Given the description of an element on the screen output the (x, y) to click on. 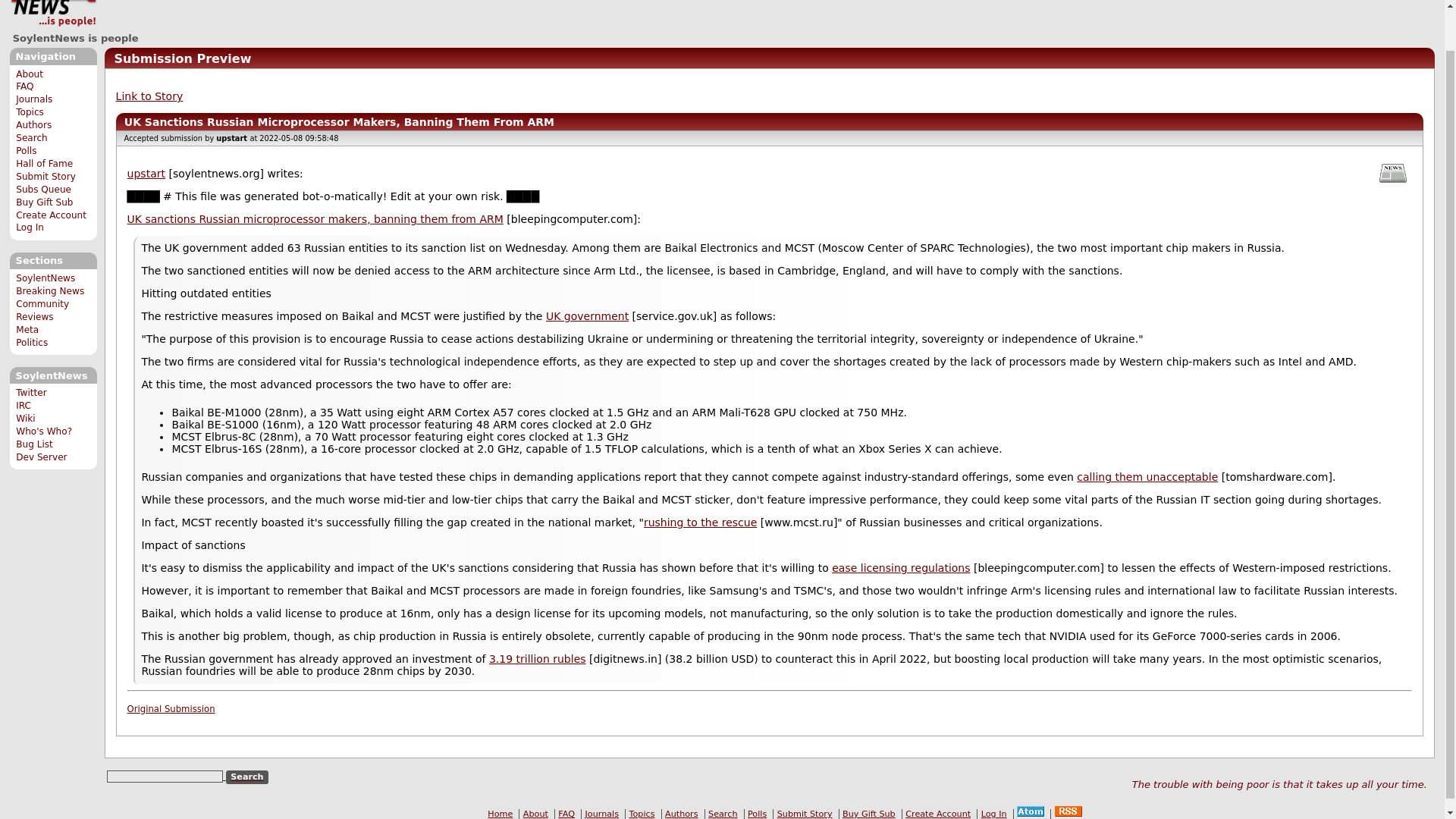
Politics (32, 342)
www.mcst.ru (700, 522)
Breaking News (50, 290)
Create Account (50, 214)
Submit Story (45, 176)
Subs Queue (43, 189)
IRC (23, 405)
service.gov.uk (587, 316)
digitnews.in (537, 658)
Polls (26, 150)
